Given the description of an element on the screen output the (x, y) to click on. 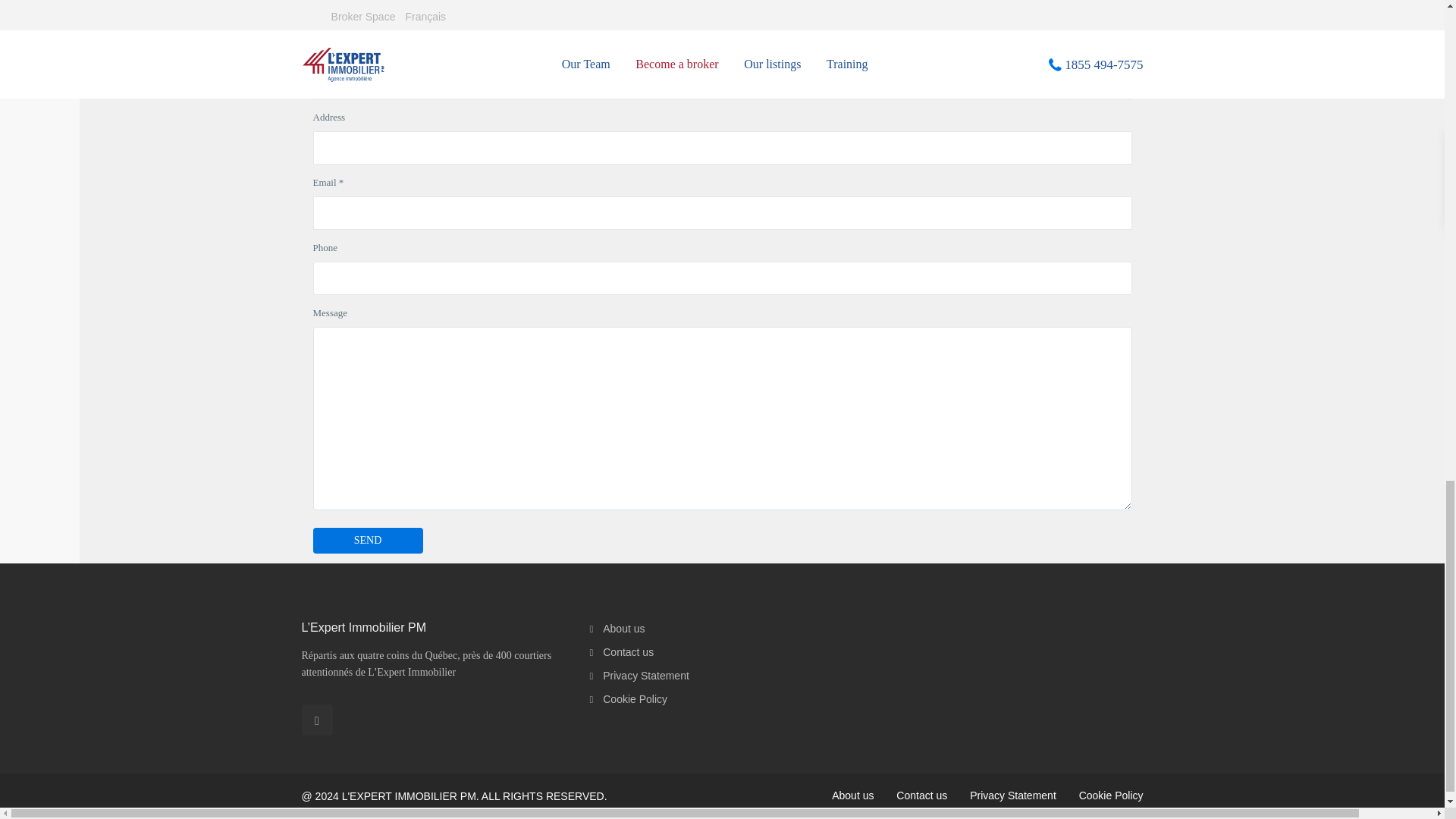
About us (852, 795)
Cookie Policy (634, 698)
Contact us (627, 652)
Cookie Policy (1110, 795)
Privacy Statement (645, 675)
Contact us (921, 795)
Privacy Statement (1013, 795)
About us (623, 628)
Send (367, 540)
Send (367, 540)
